Given the description of an element on the screen output the (x, y) to click on. 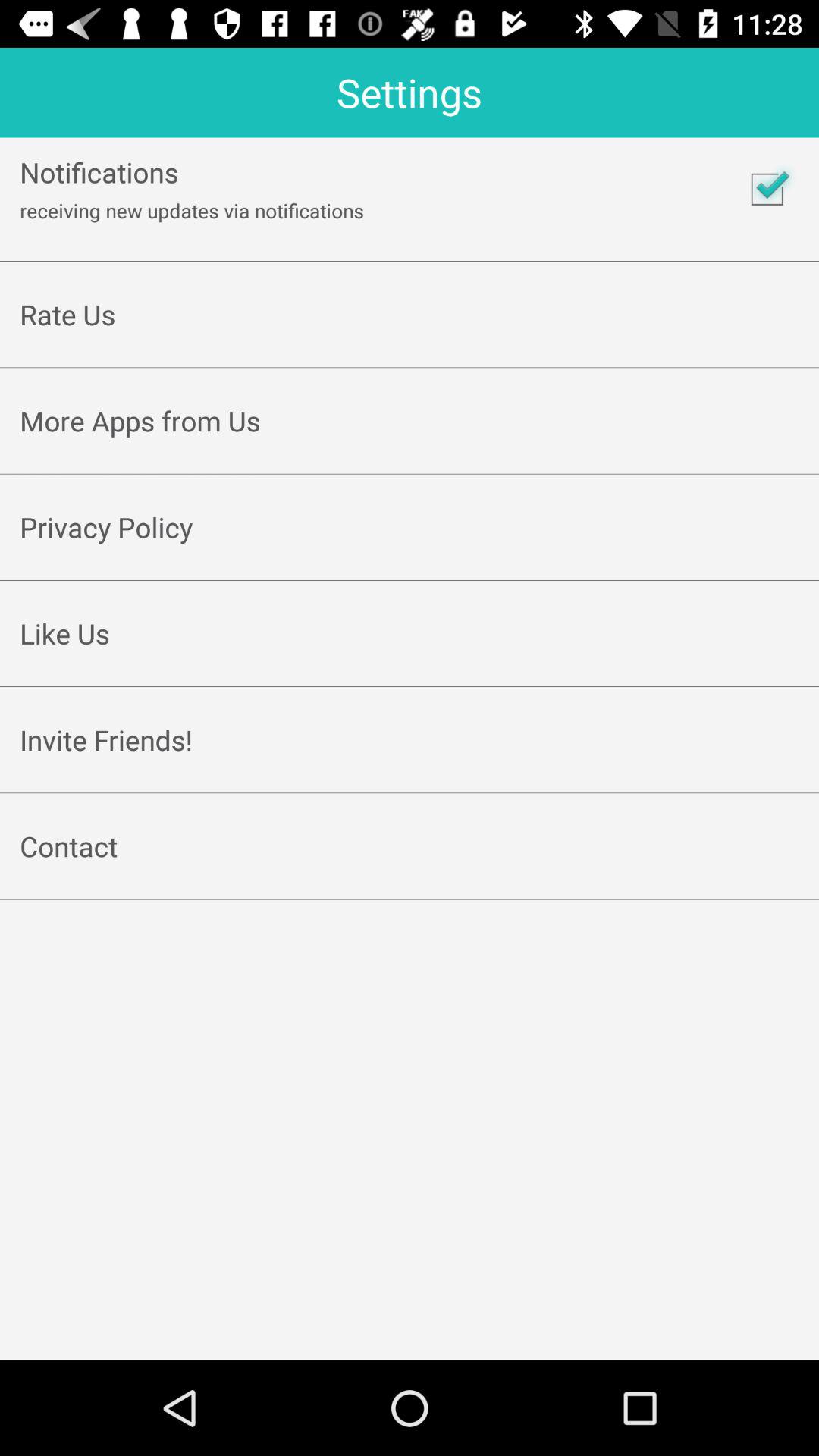
correct (767, 189)
